Given the description of an element on the screen output the (x, y) to click on. 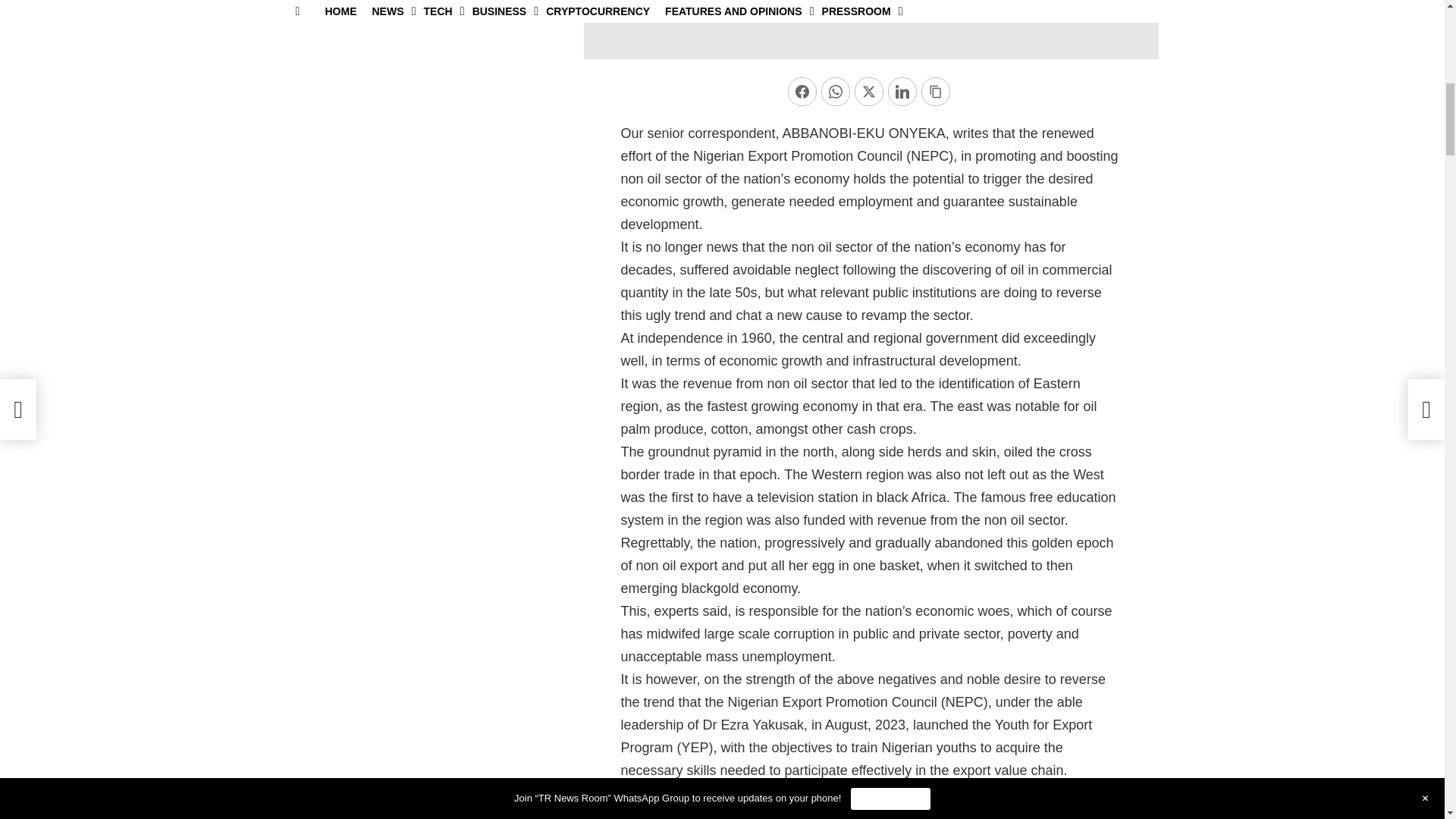
Share on Copy Link (935, 91)
Share on Share on Facebook (801, 91)
Share on Share on WhatsApp (835, 91)
Share on Share on Twitter (868, 91)
Share on Share on LinkedIn (902, 91)
